Given the description of an element on the screen output the (x, y) to click on. 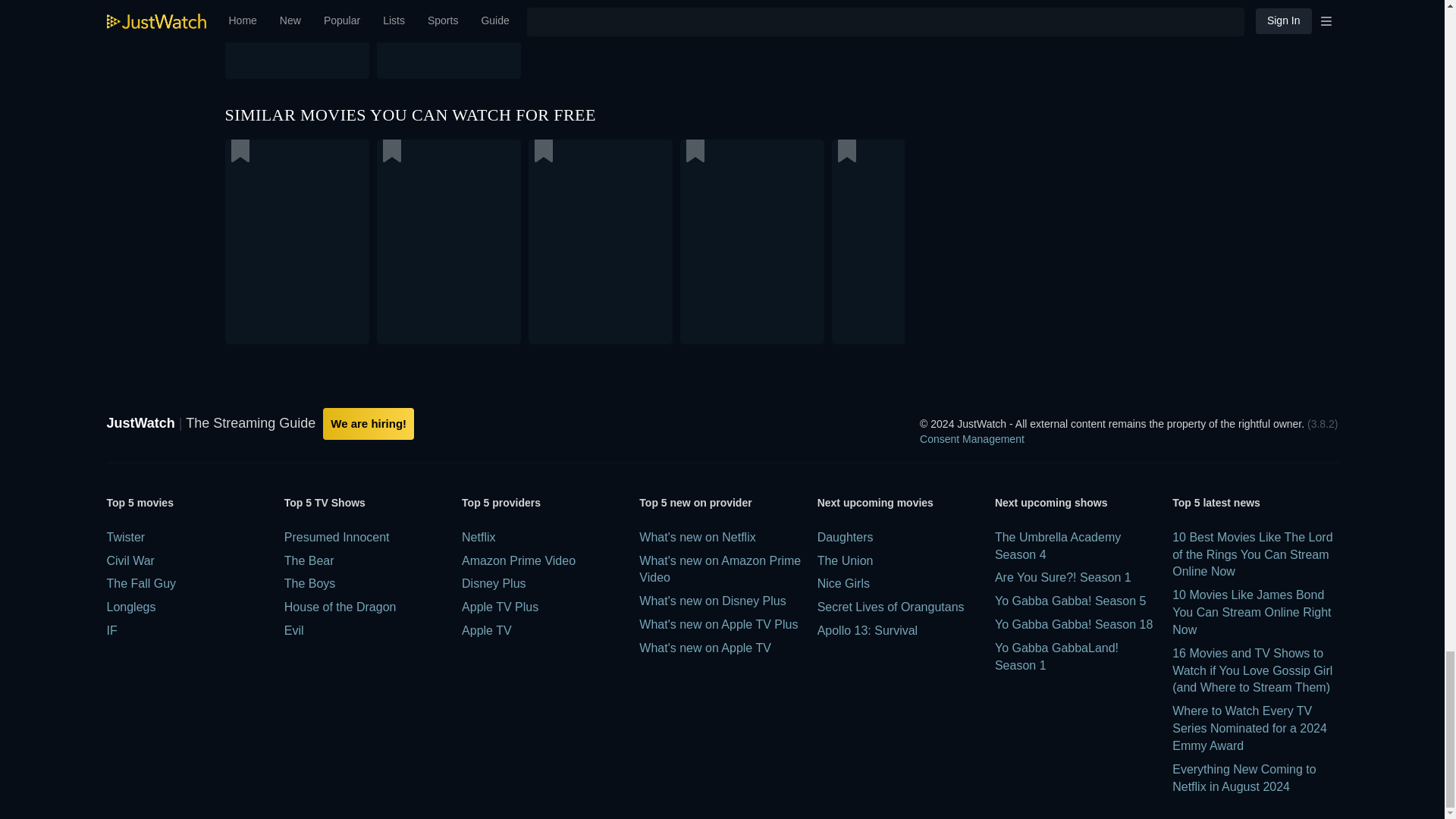
Rebel Ridge (374, 39)
Rebel Ridge (564, 39)
